Given the description of an element on the screen output the (x, y) to click on. 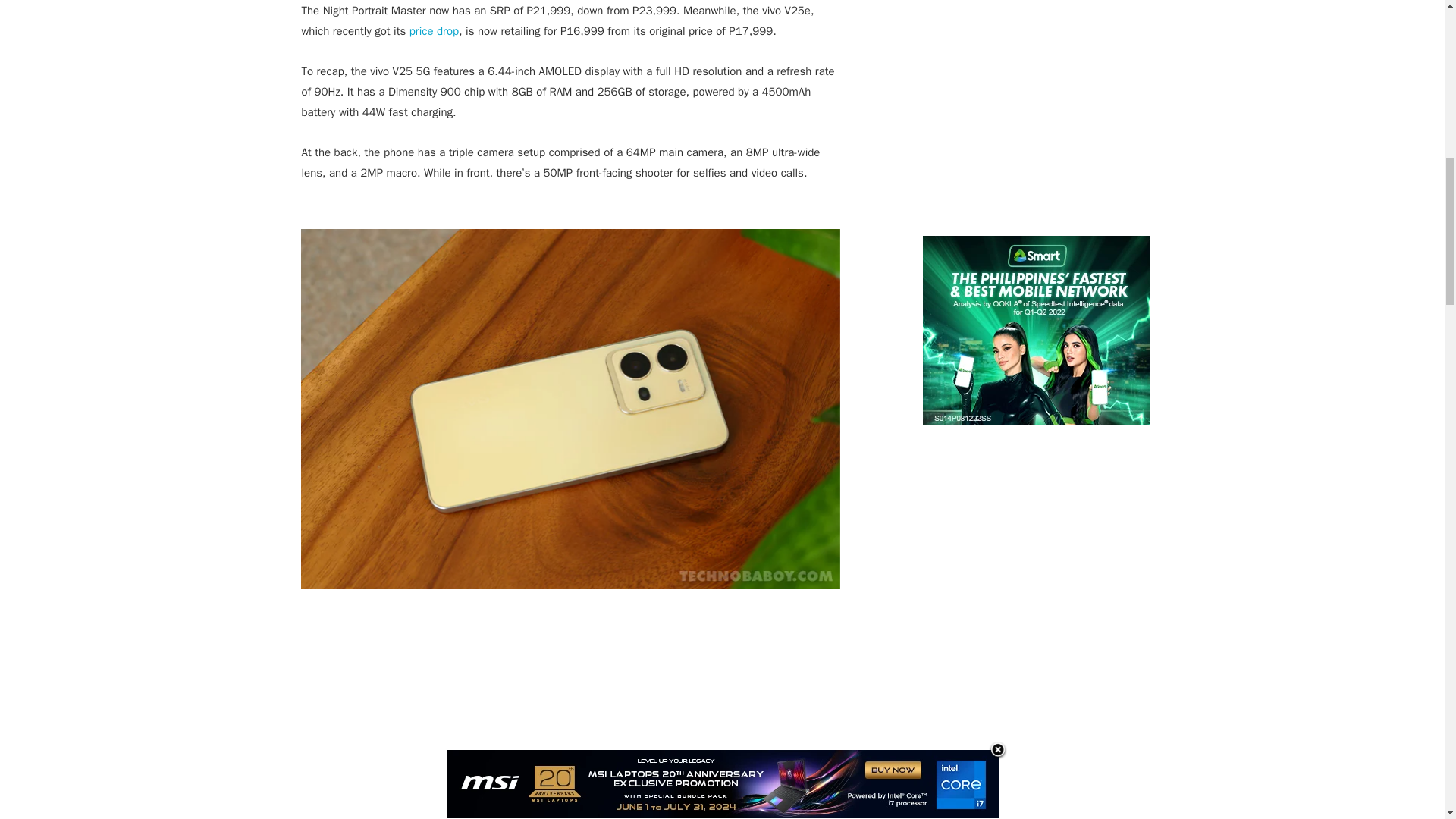
price drop (433, 30)
